Given the description of an element on the screen output the (x, y) to click on. 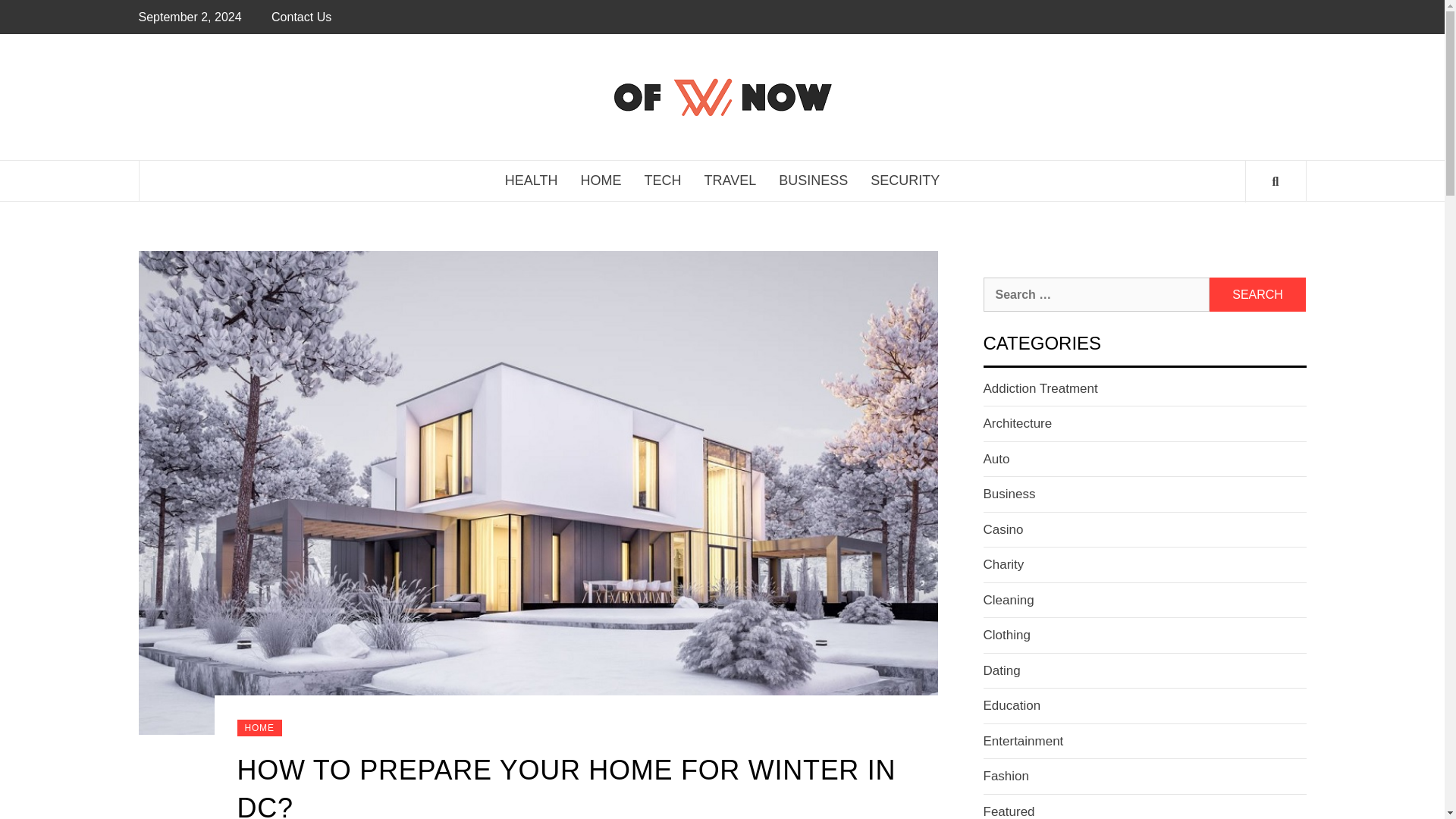
Education (1011, 705)
OFWNOW (925, 95)
Entertainment (1022, 740)
Search (1257, 294)
BUSINESS (813, 180)
HOME (600, 180)
Casino (1002, 529)
Fashion (1004, 775)
Search (1257, 294)
Clothing (1005, 635)
